Given the description of an element on the screen output the (x, y) to click on. 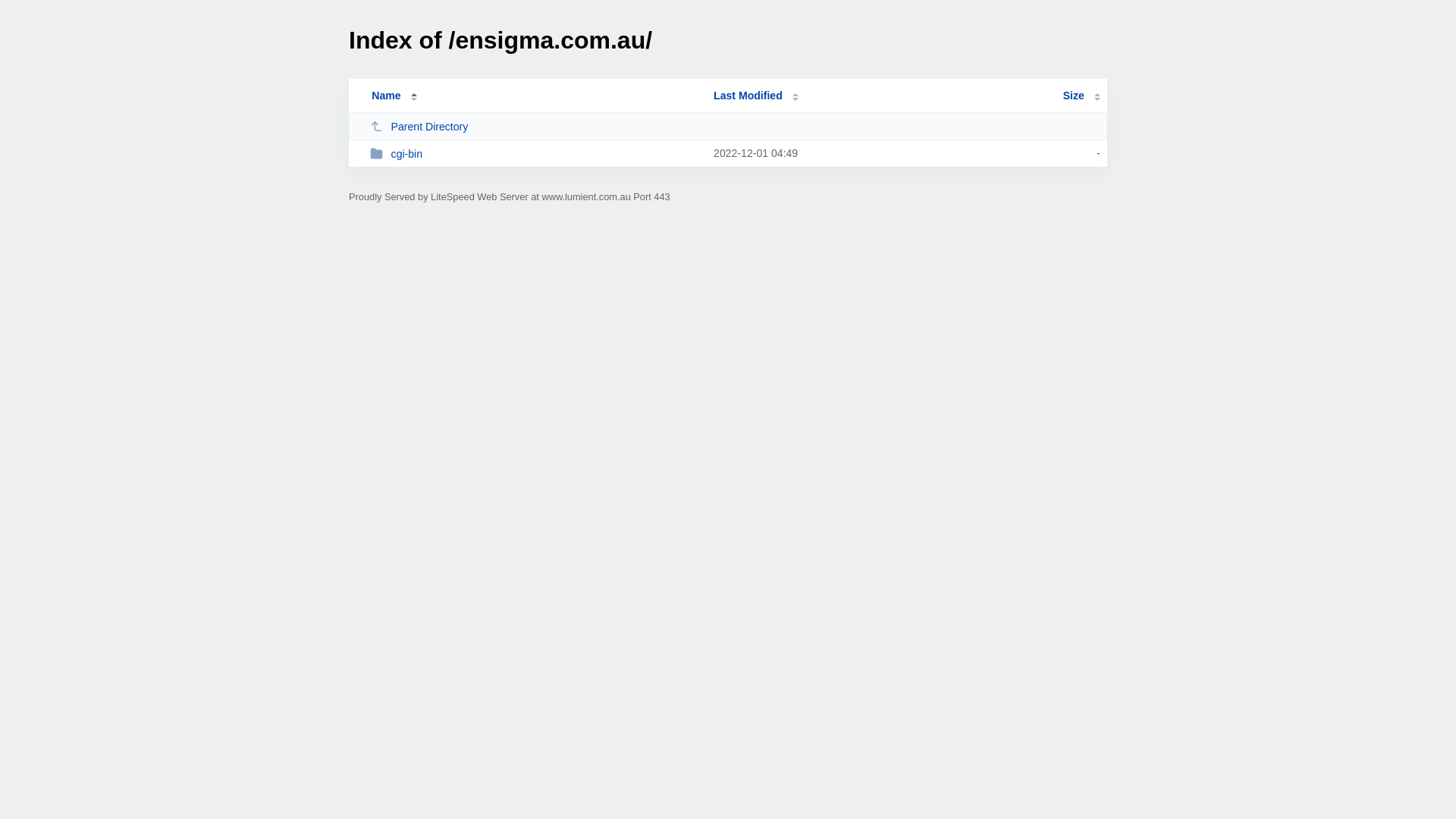
Size Element type: text (1081, 95)
cgi-bin Element type: text (534, 153)
Parent Directory Element type: text (534, 125)
Name Element type: text (385, 95)
Last Modified Element type: text (755, 95)
